Given the description of an element on the screen output the (x, y) to click on. 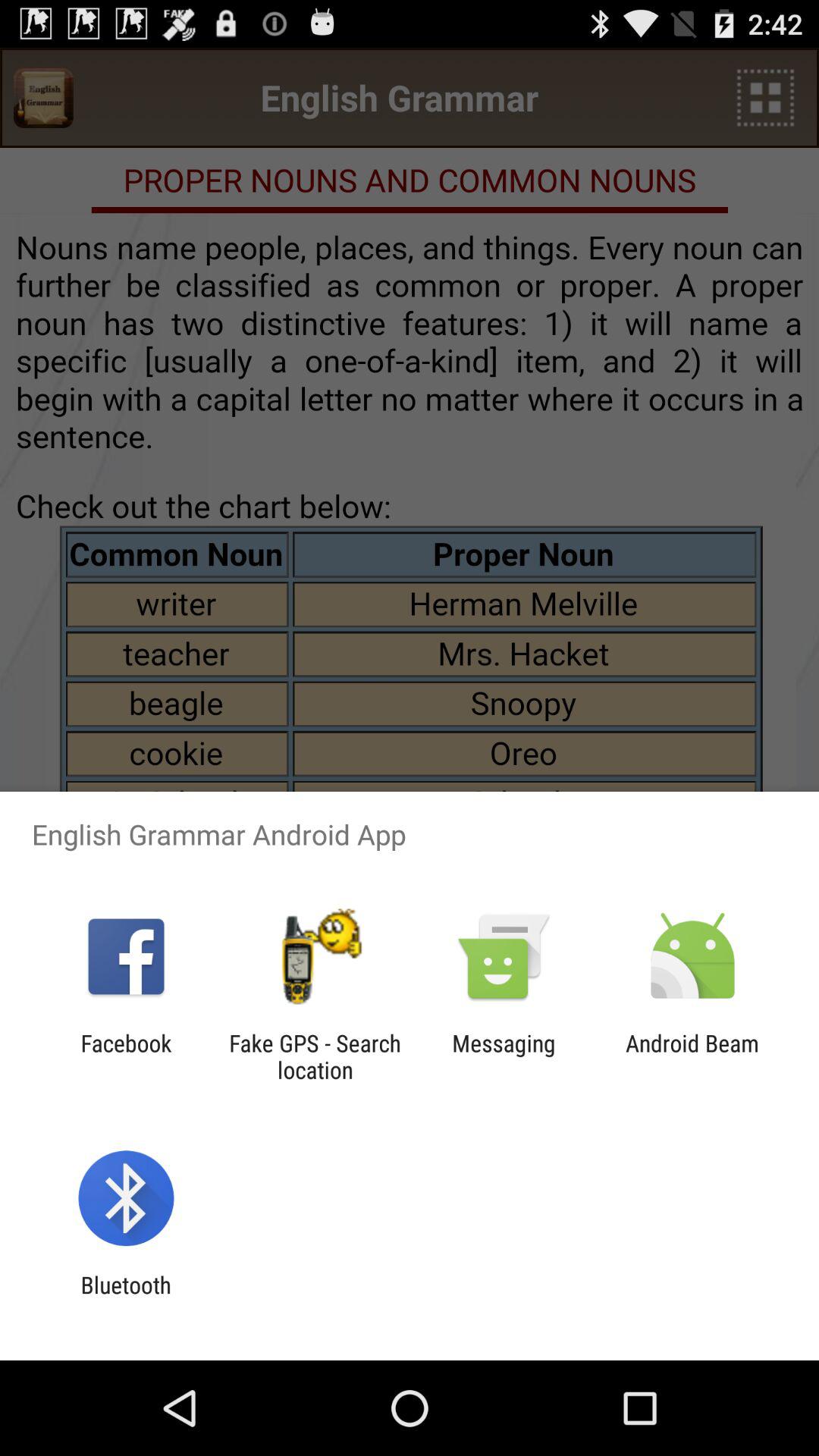
jump until messaging (503, 1056)
